Given the description of an element on the screen output the (x, y) to click on. 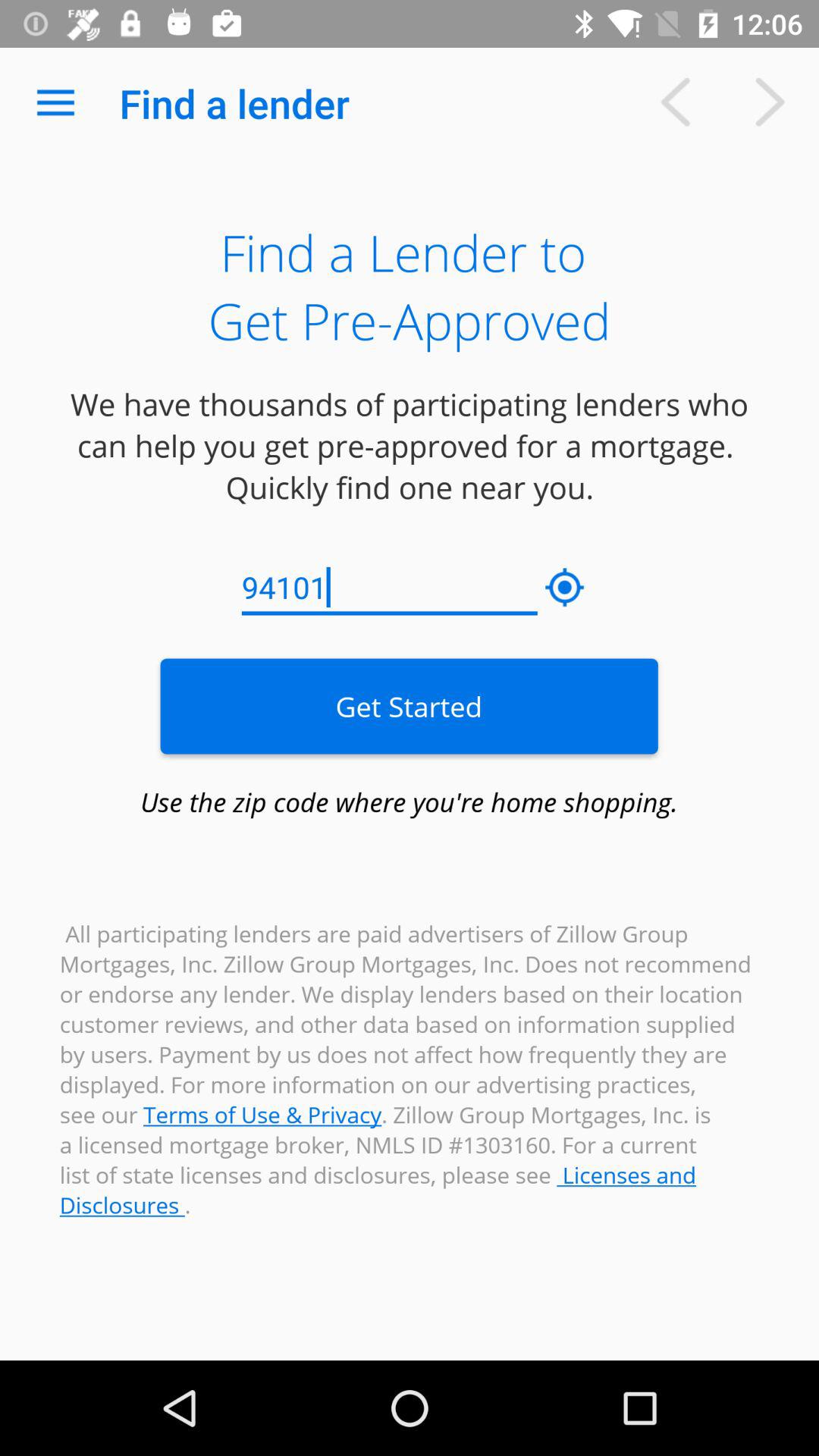
launch the icon below the we have thousands icon (389, 588)
